Given the description of an element on the screen output the (x, y) to click on. 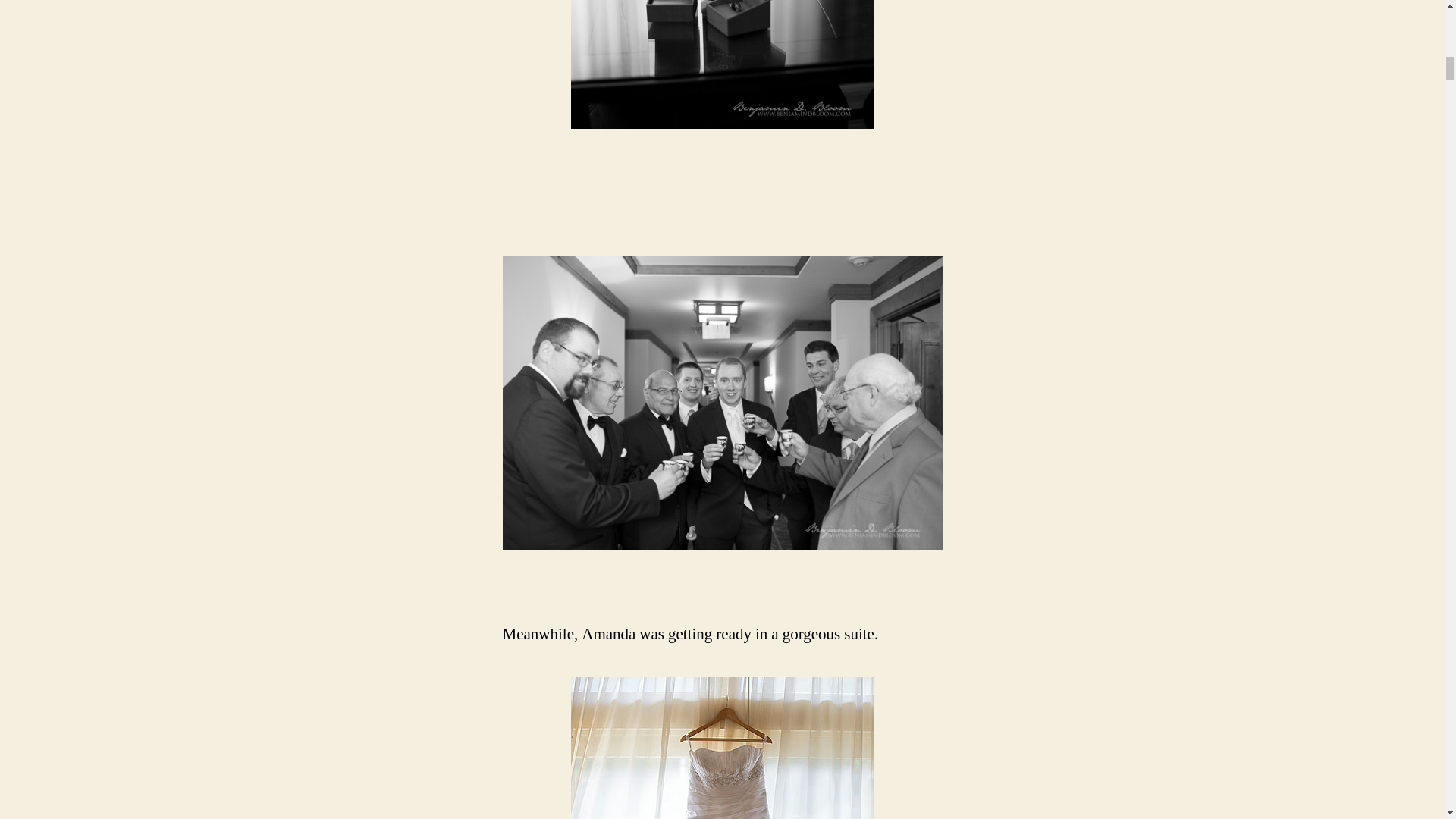
Stowe-Vermont-Wedding-Photography-Benjamin-Bloom-03 (722, 402)
Stowe-Vermont-Wedding-Photography-Benjamin-Bloom-02 (721, 64)
Stowe-Vermont-Wedding-Photography-Benjamin-Bloom-04 (721, 748)
